Given the description of an element on the screen output the (x, y) to click on. 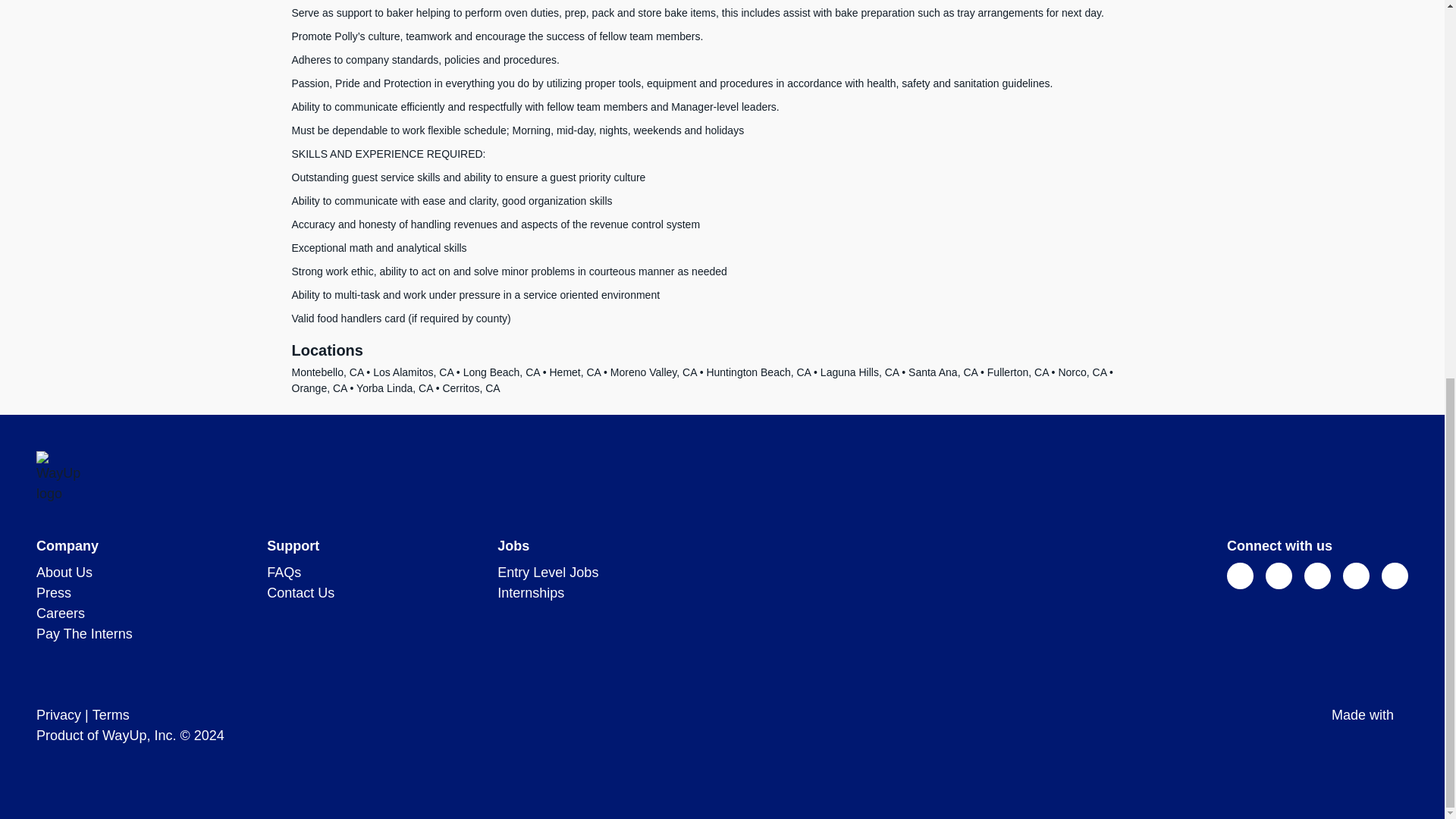
FAQs (283, 572)
Careers (60, 613)
Terms (111, 714)
Entry Level Jobs (547, 572)
Pay The Interns (84, 634)
Privacy (58, 714)
Contact Us (300, 593)
Press (53, 593)
About Us (64, 572)
Internships (530, 593)
